Given the description of an element on the screen output the (x, y) to click on. 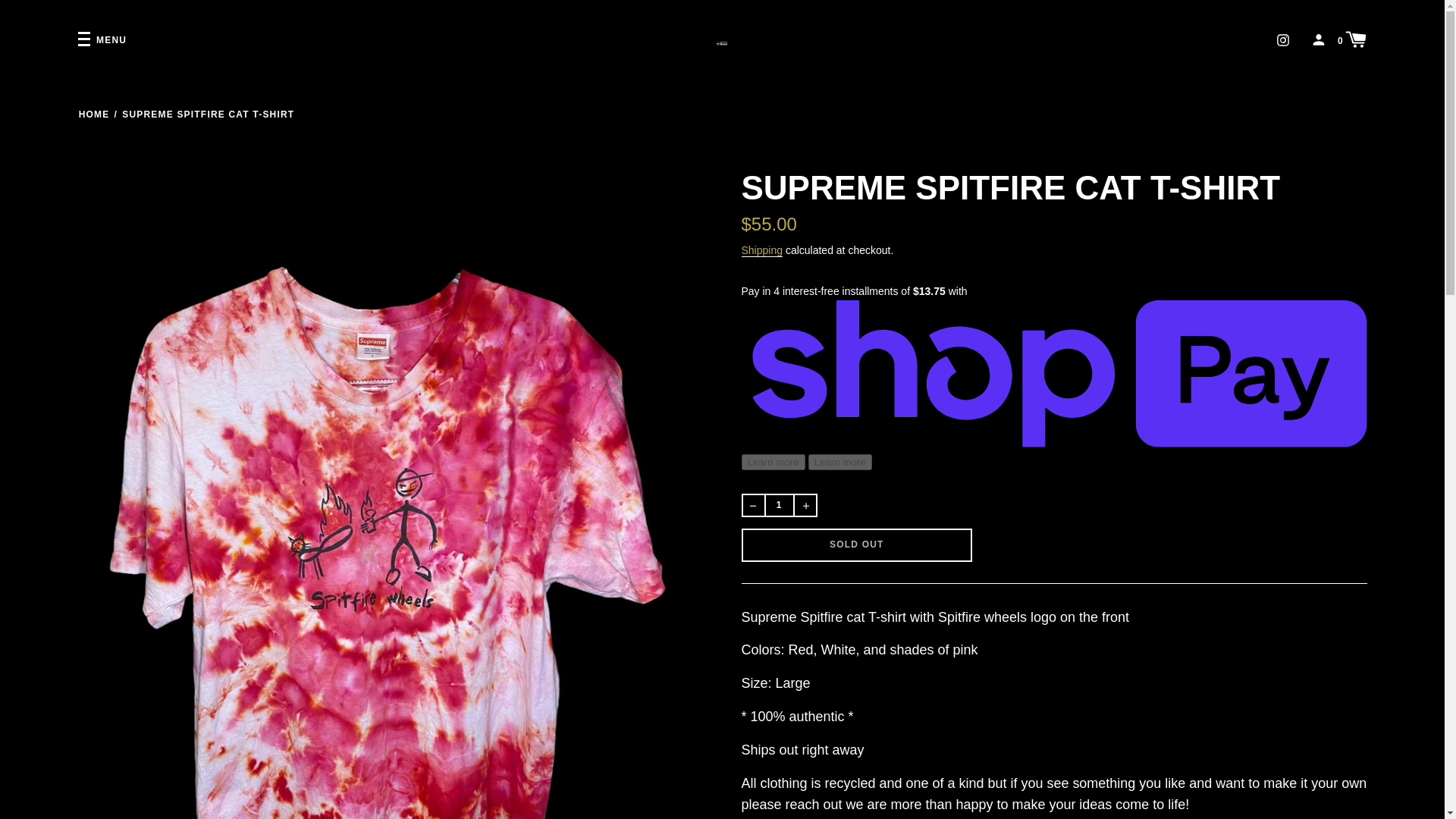
HOME (93, 114)
Shipping (762, 250)
MENU (101, 40)
1 (778, 504)
Back to the frontpage (93, 114)
0 (1352, 38)
SOLD OUT (856, 544)
DestroyedDyes  on Instagram (1282, 38)
